Given the description of an element on the screen output the (x, y) to click on. 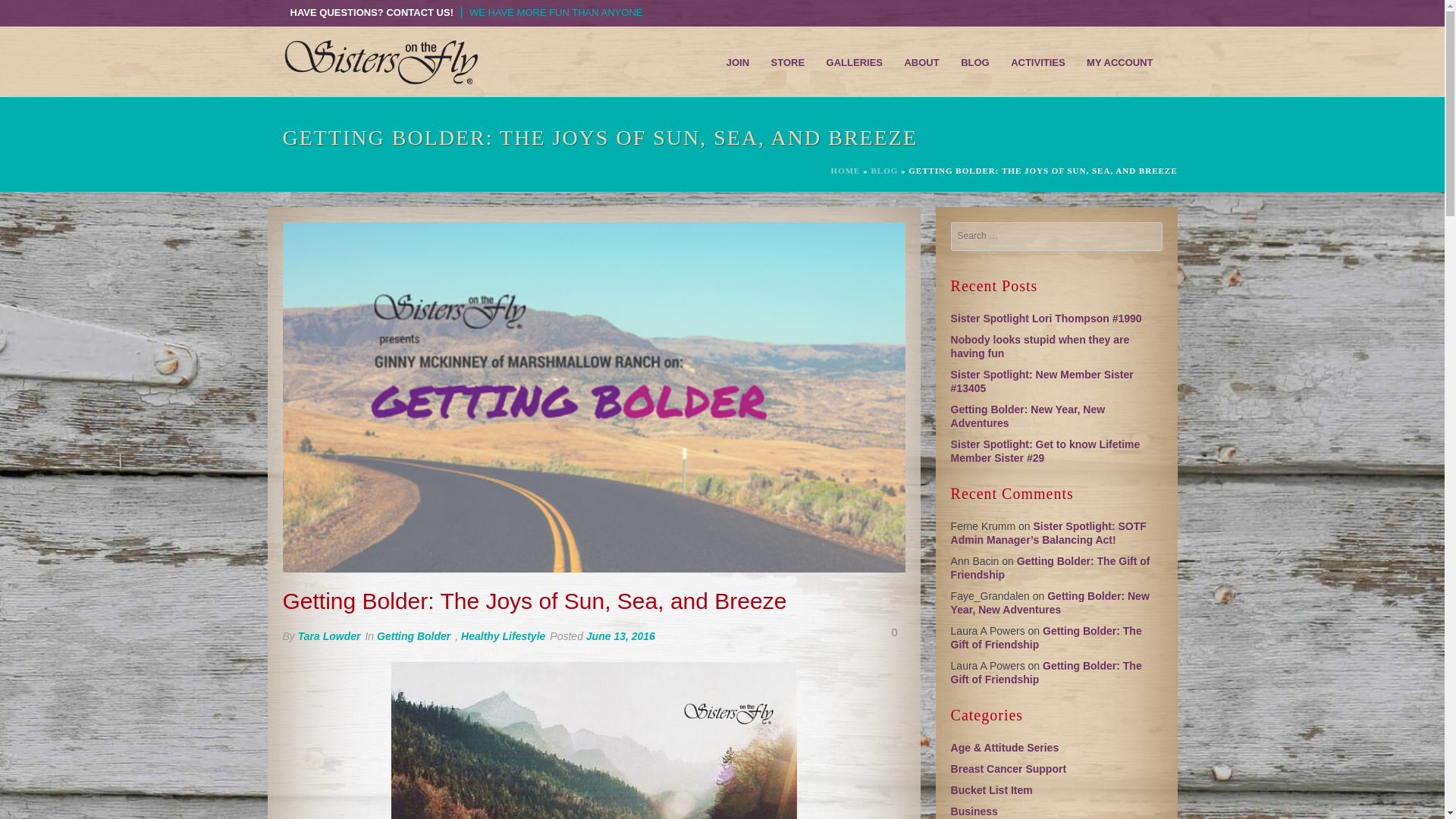
HAVE QUESTIONS? CONTACT US! (371, 12)
